Given the description of an element on the screen output the (x, y) to click on. 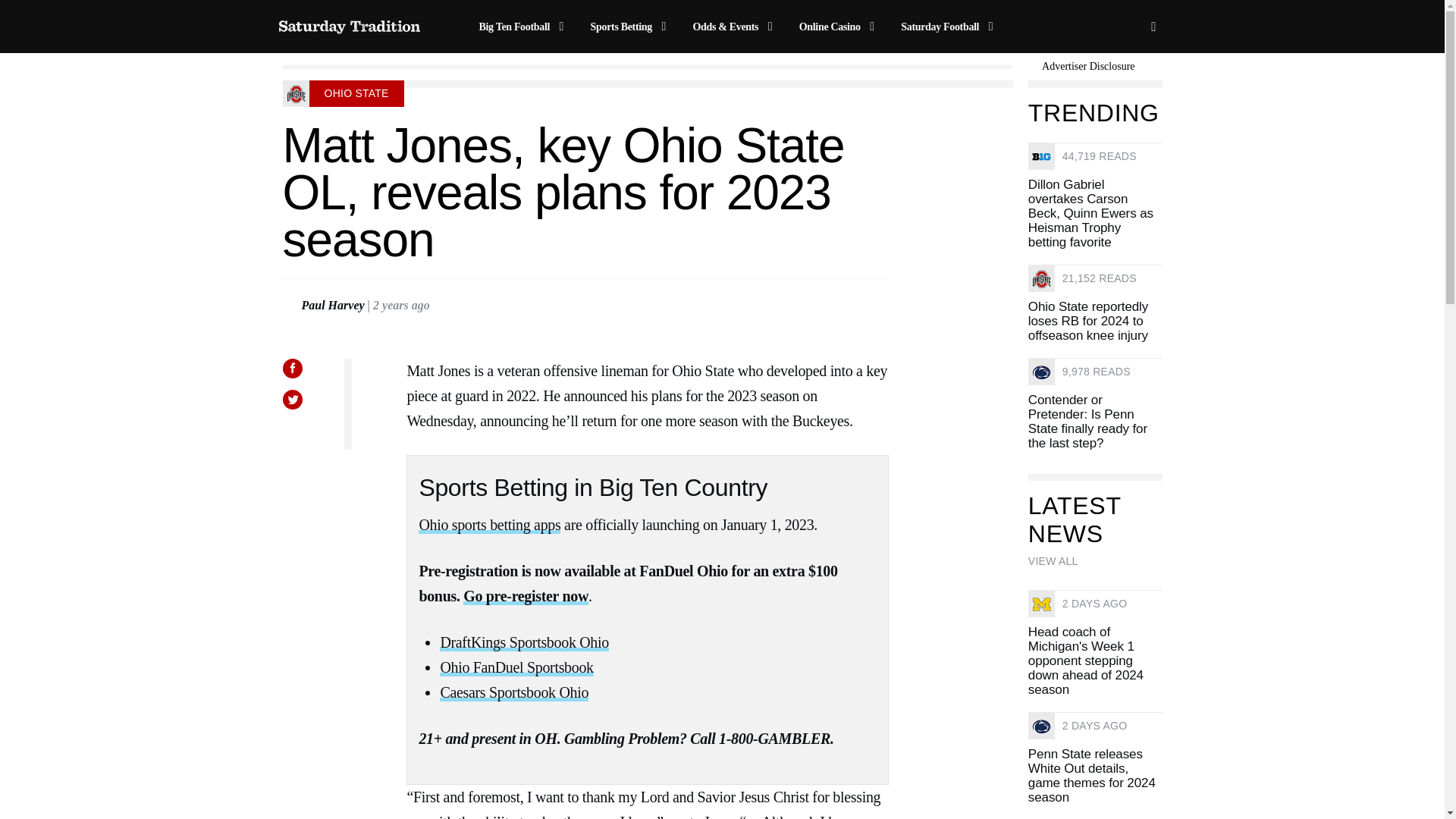
Big Ten Football (524, 26)
Sports Betting (631, 26)
